Given the description of an element on the screen output the (x, y) to click on. 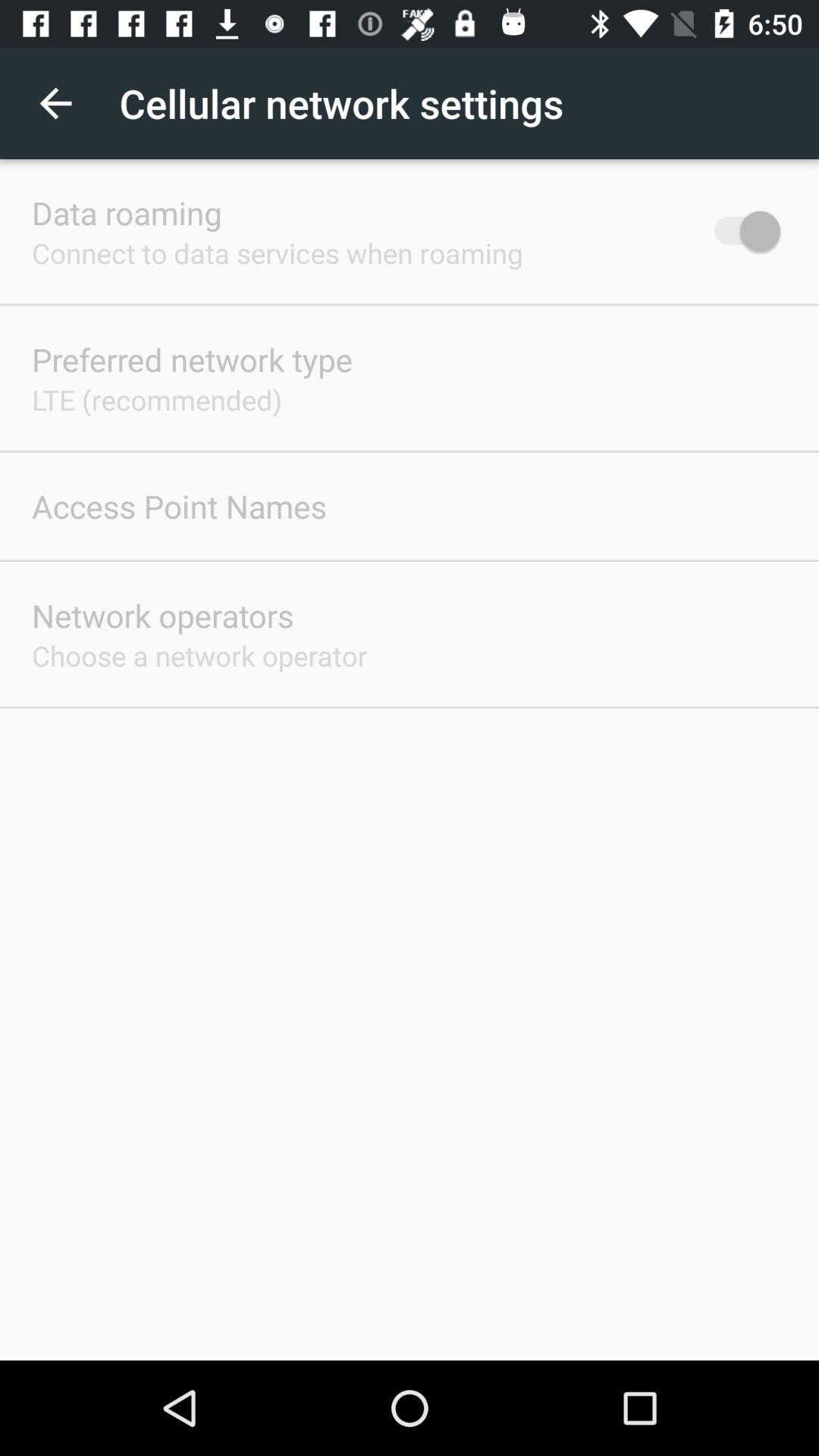
launch the item at the top right corner (739, 231)
